Given the description of an element on the screen output the (x, y) to click on. 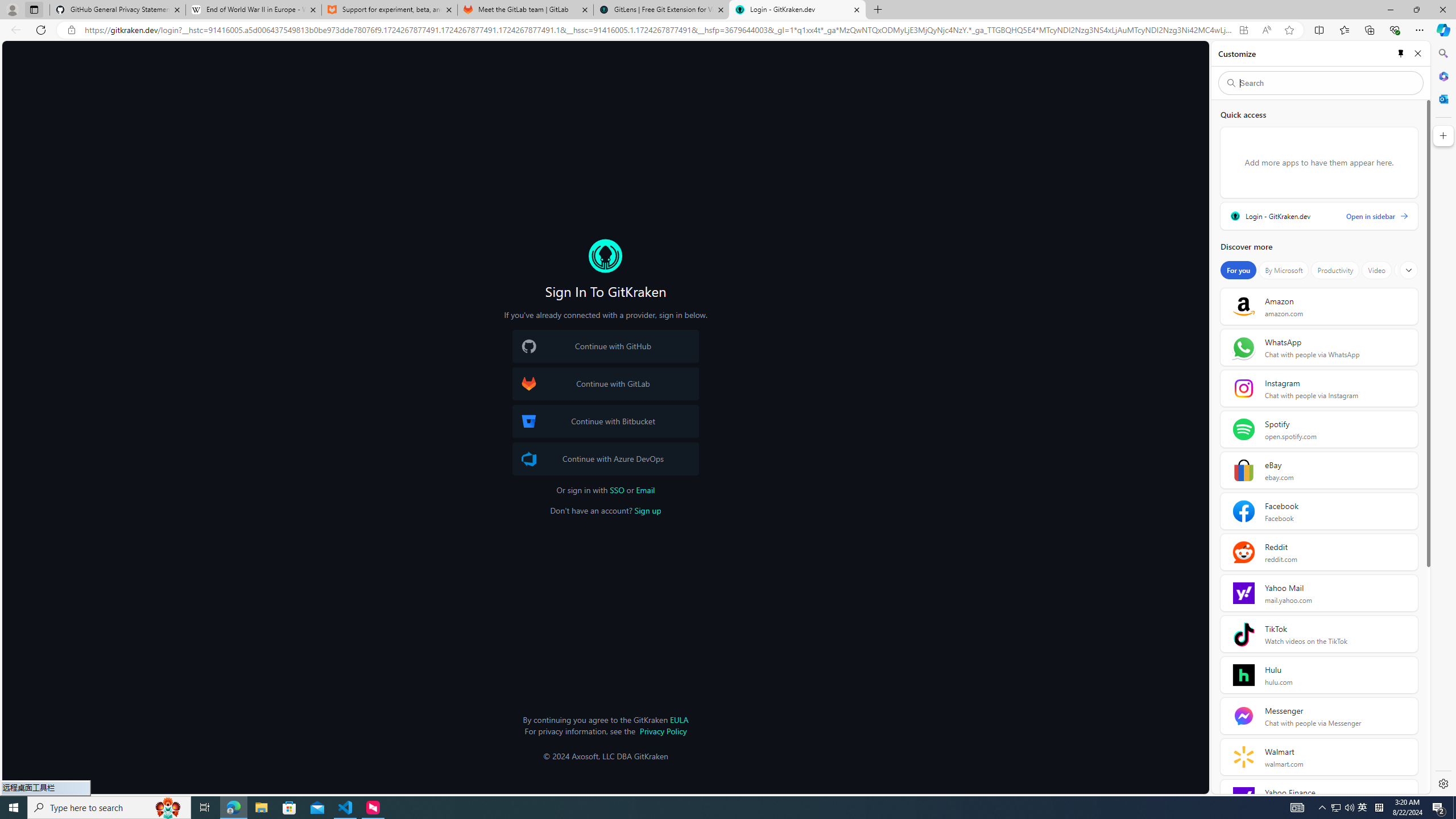
Azure DevOps Logo Continue with Azure DevOps (605, 458)
GitHub Logo Continue with GitHub (605, 346)
Email (645, 489)
Show more (1408, 270)
Bitbucket Logo Continue with Bitbucket (605, 421)
Video (1376, 270)
Privacy Policy (663, 730)
Azure DevOps Logo (528, 458)
GitLab Logo Continue with GitLab (605, 383)
End of World War II in Europe - Wikipedia (253, 9)
